Given the description of an element on the screen output the (x, y) to click on. 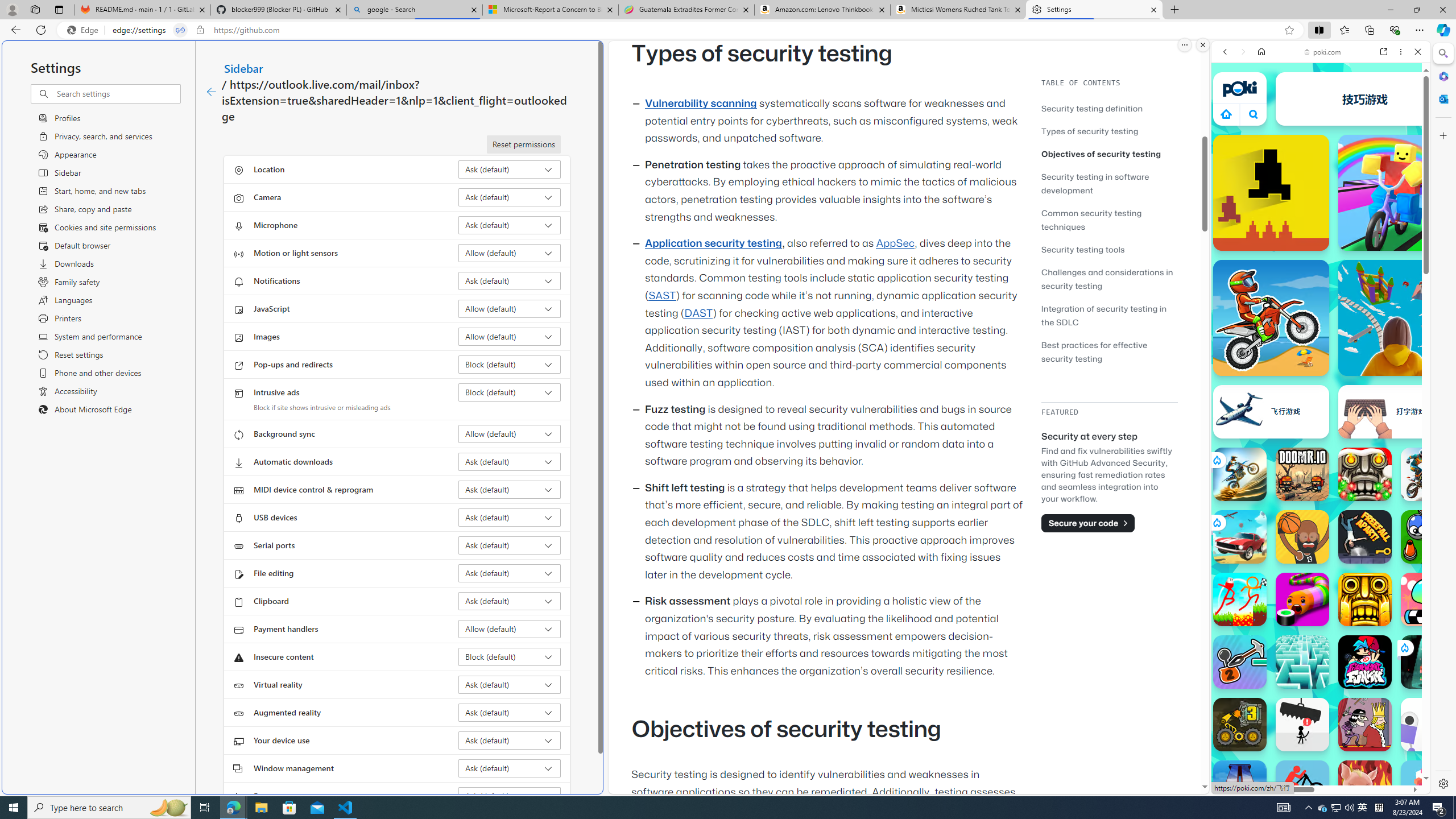
Fonts Ask (default) (509, 796)
Murder Murder (1364, 724)
Iron Snout Iron Snout (1364, 787)
Vulnerability scanning (701, 103)
Common security testing techniques (1109, 219)
Camera Ask (default) (509, 197)
Sports Games (1320, 378)
Quivershot Quivershot (1427, 661)
SUBWAY SURFERS - Play Online for Free! | Poki (1315, 765)
